Given the description of an element on the screen output the (x, y) to click on. 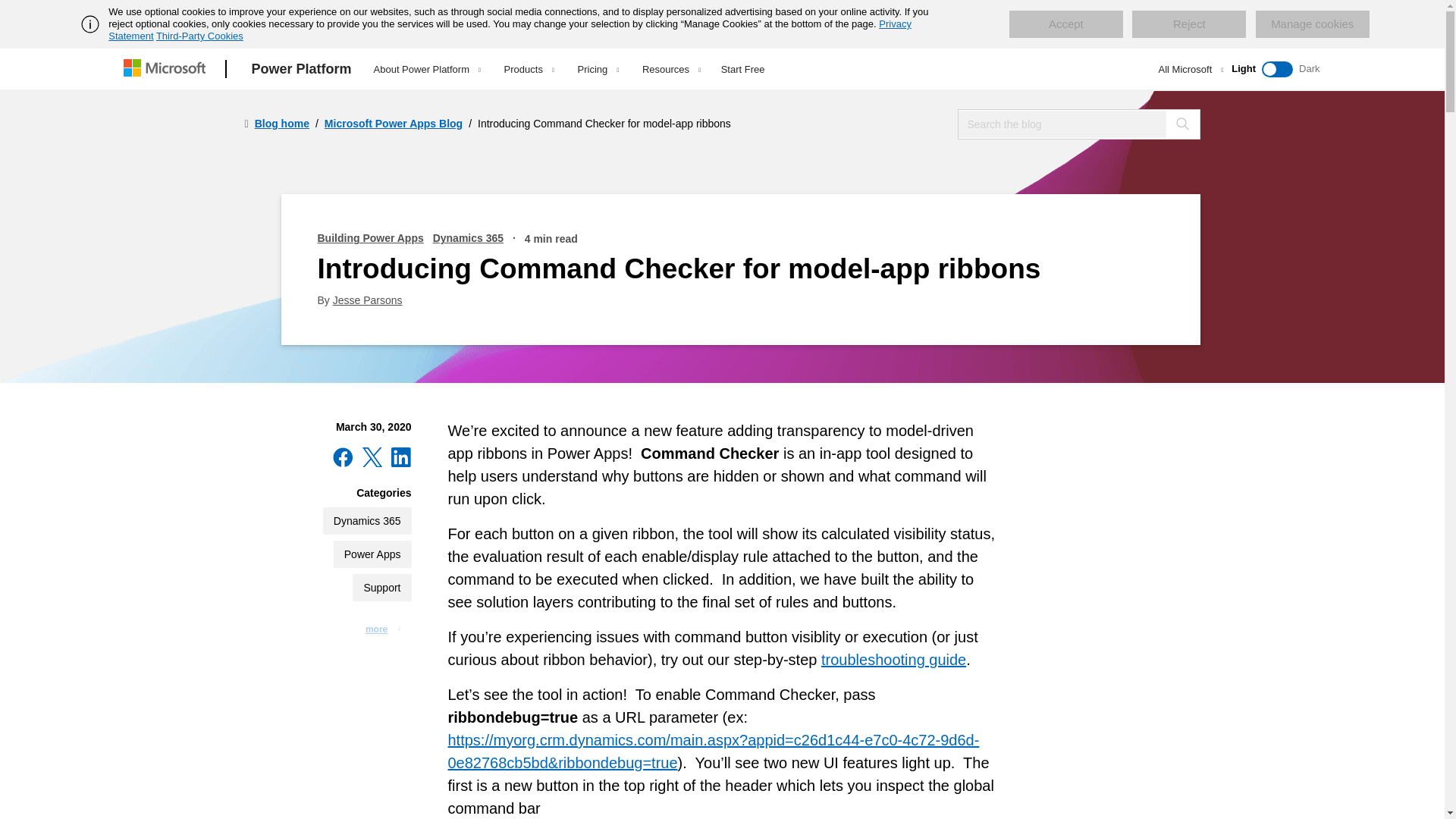
Microsoft (167, 69)
Third-Party Cookies (199, 35)
About Power Platform (427, 69)
Reject (1189, 23)
Privacy Statement (509, 29)
Power Platform (301, 69)
Manage cookies (1312, 23)
Products (529, 69)
Pricing (597, 69)
Accept (1065, 23)
